Given the description of an element on the screen output the (x, y) to click on. 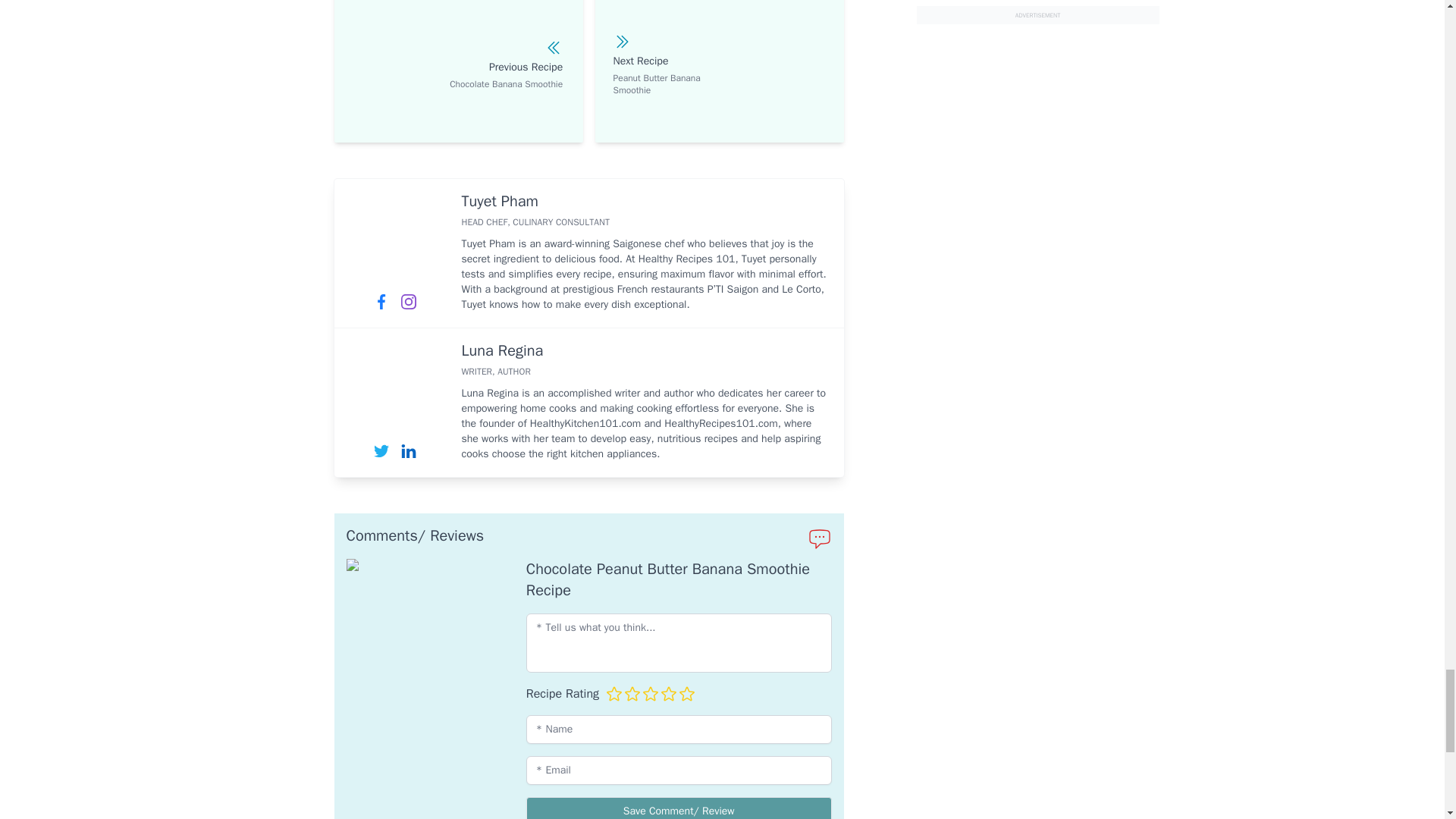
instagram Tuyet Pham (408, 301)
facebook Tuyet Pham (380, 301)
linkedIn Luna Regina (408, 451)
twitter Luna Regina (380, 451)
